Given the description of an element on the screen output the (x, y) to click on. 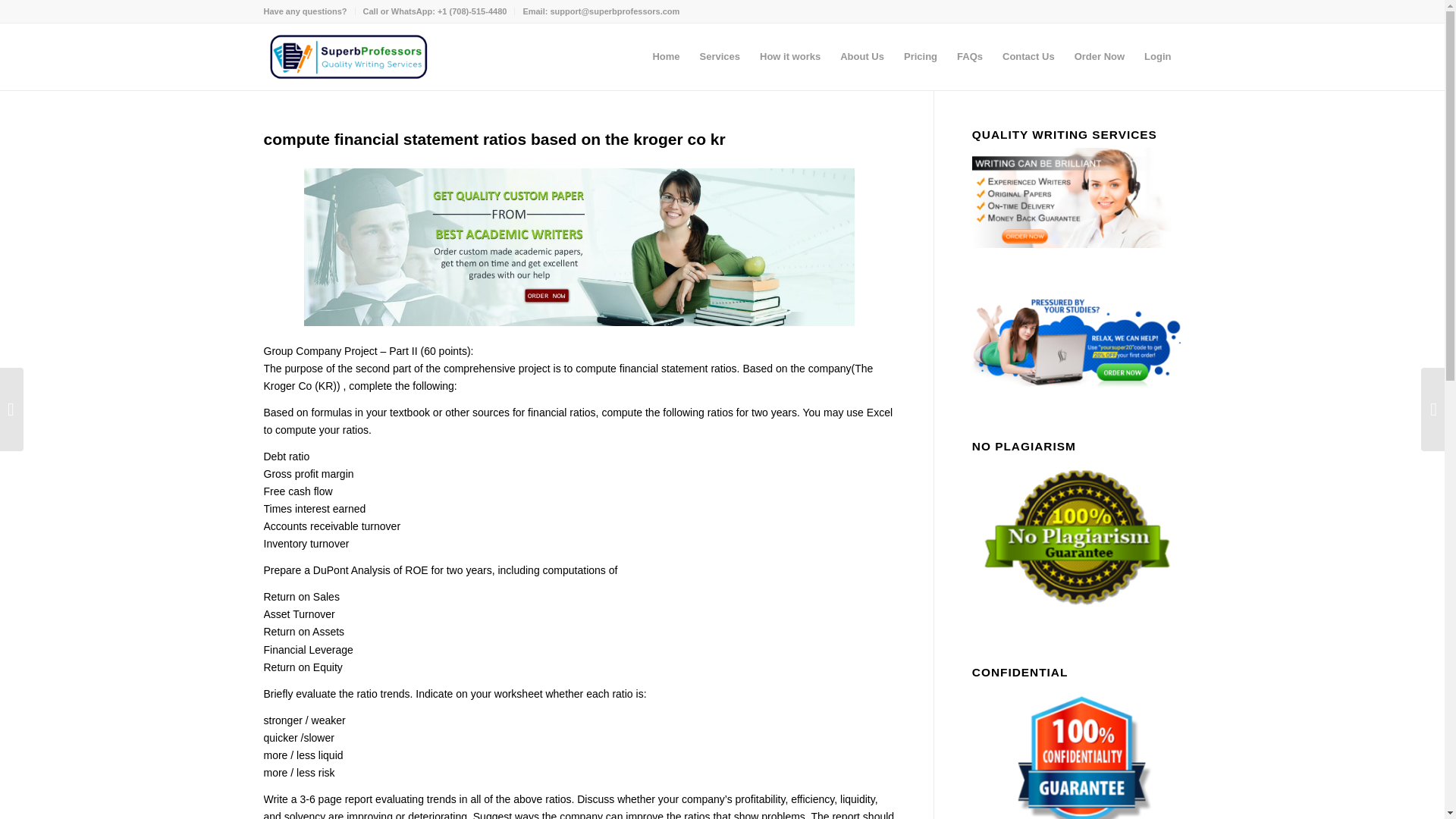
Have any questions? (305, 11)
About Us (861, 56)
Contact Us (1028, 56)
Services (720, 56)
Order Now (1099, 56)
compute financial statement ratios based on the kroger co kr (494, 139)
How it works (789, 56)
